Given the description of an element on the screen output the (x, y) to click on. 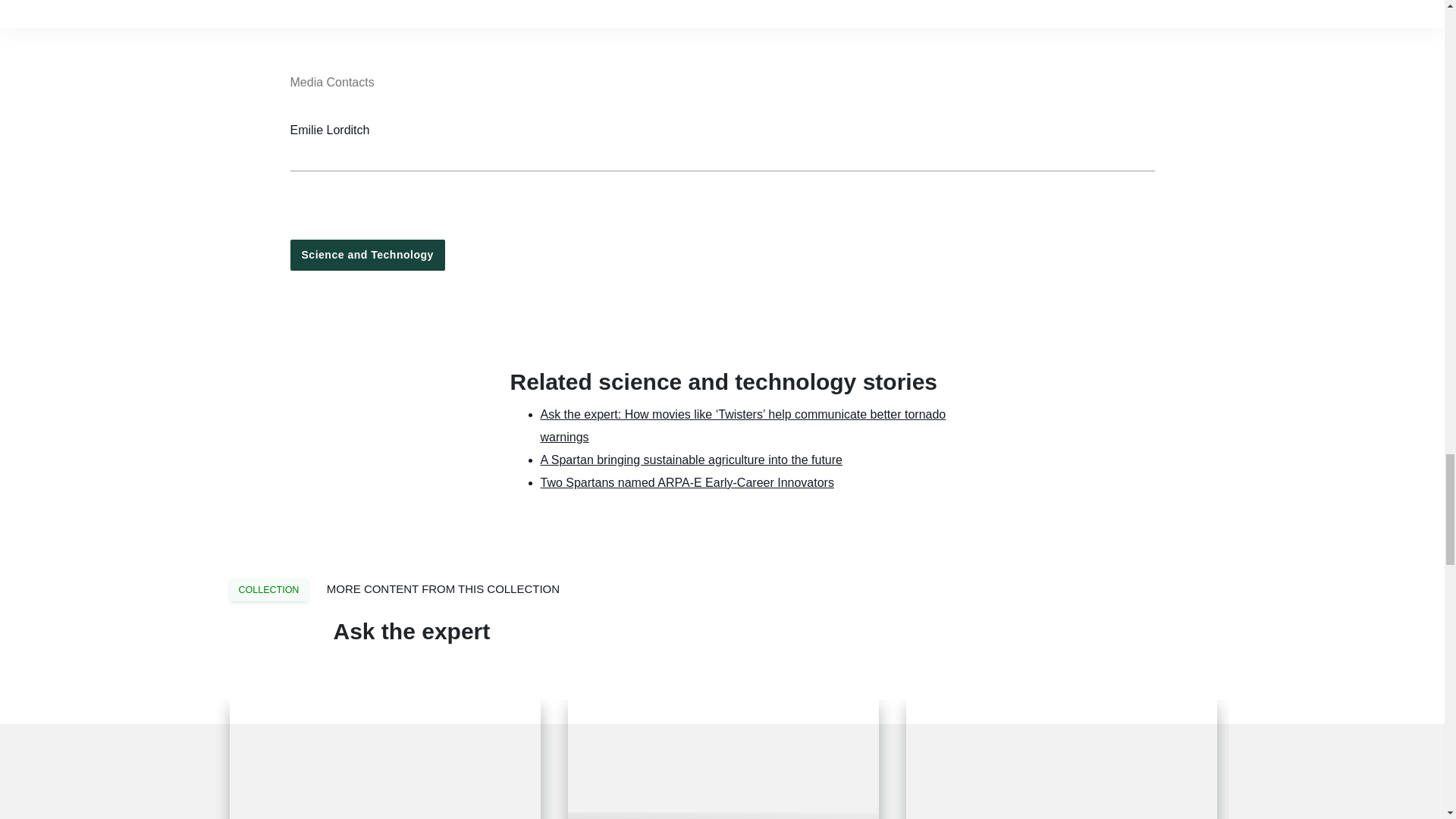
A Spartan bringing sustainable agriculture into the future (690, 459)
COLLECTION (267, 589)
Science and Technology (366, 254)
Two Spartans named ARPA-E Early-Career Innovators (686, 481)
Emilie Lorditch (329, 129)
